Given the description of an element on the screen output the (x, y) to click on. 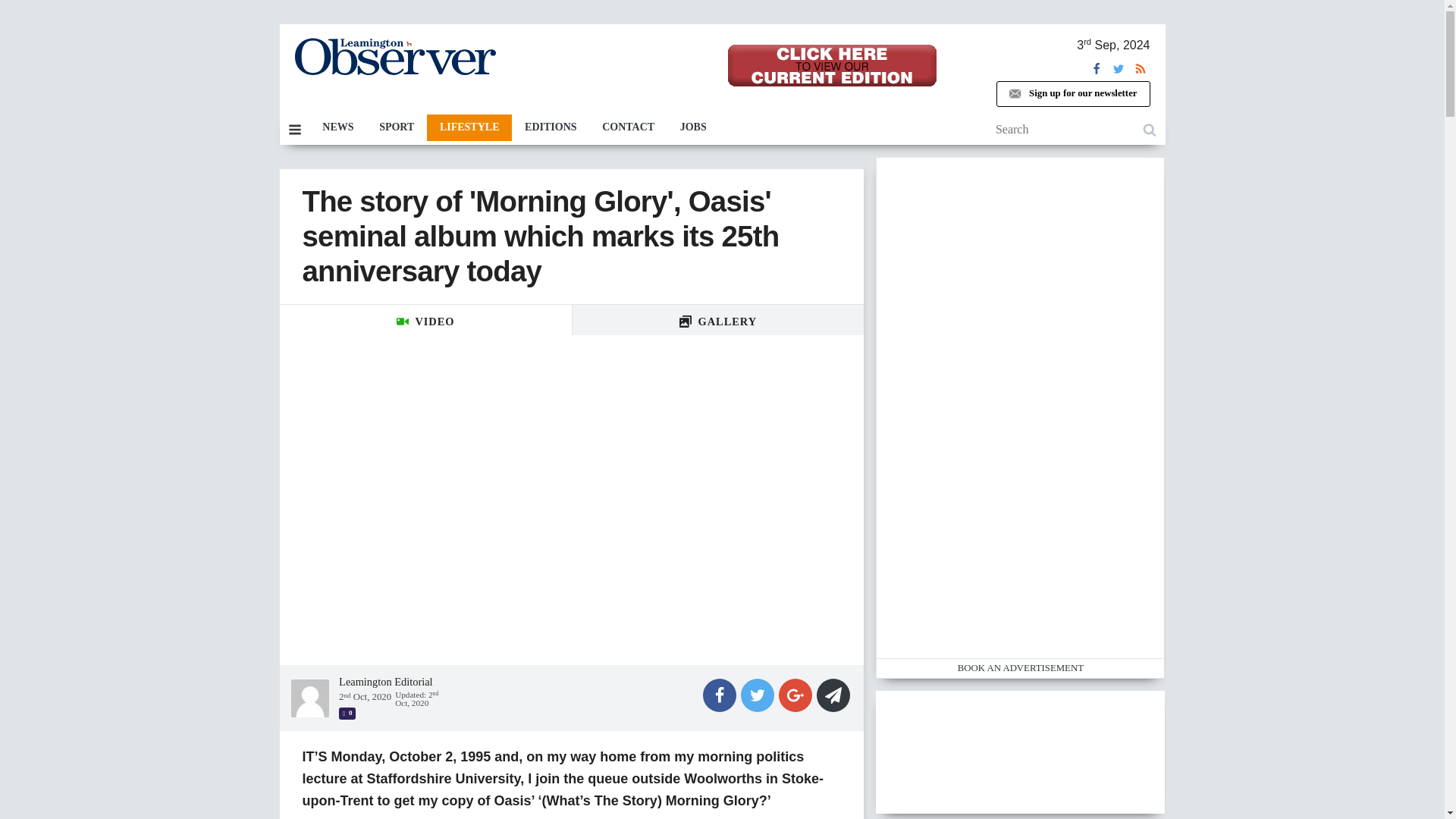
SPORT (396, 127)
  Sign up for our newsletter (1072, 94)
JOBS (692, 127)
The Leamington Observer (394, 55)
LIFESTYLE (469, 127)
CONTACT (627, 127)
EDITIONS (550, 127)
NEWS (337, 127)
